Given the description of an element on the screen output the (x, y) to click on. 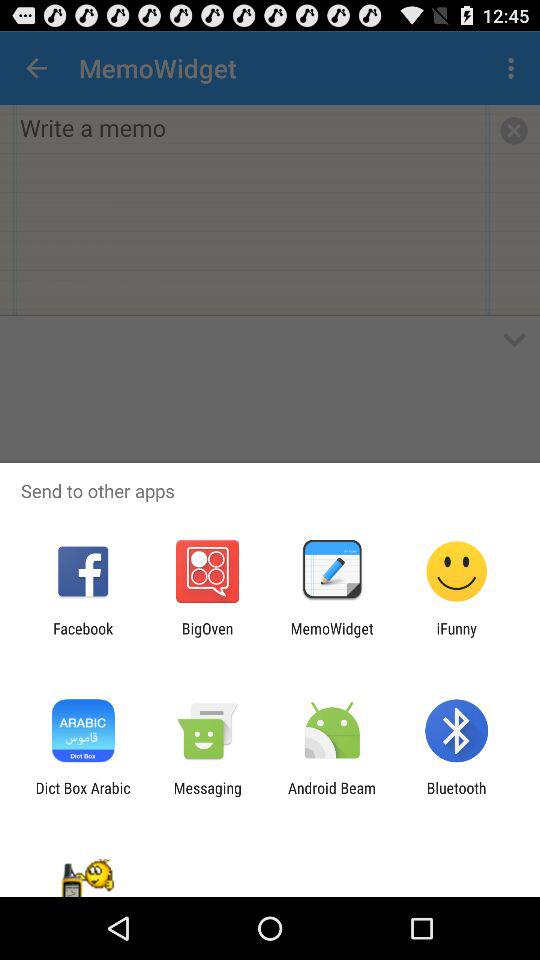
click icon to the left of the messaging (82, 796)
